Given the description of an element on the screen output the (x, y) to click on. 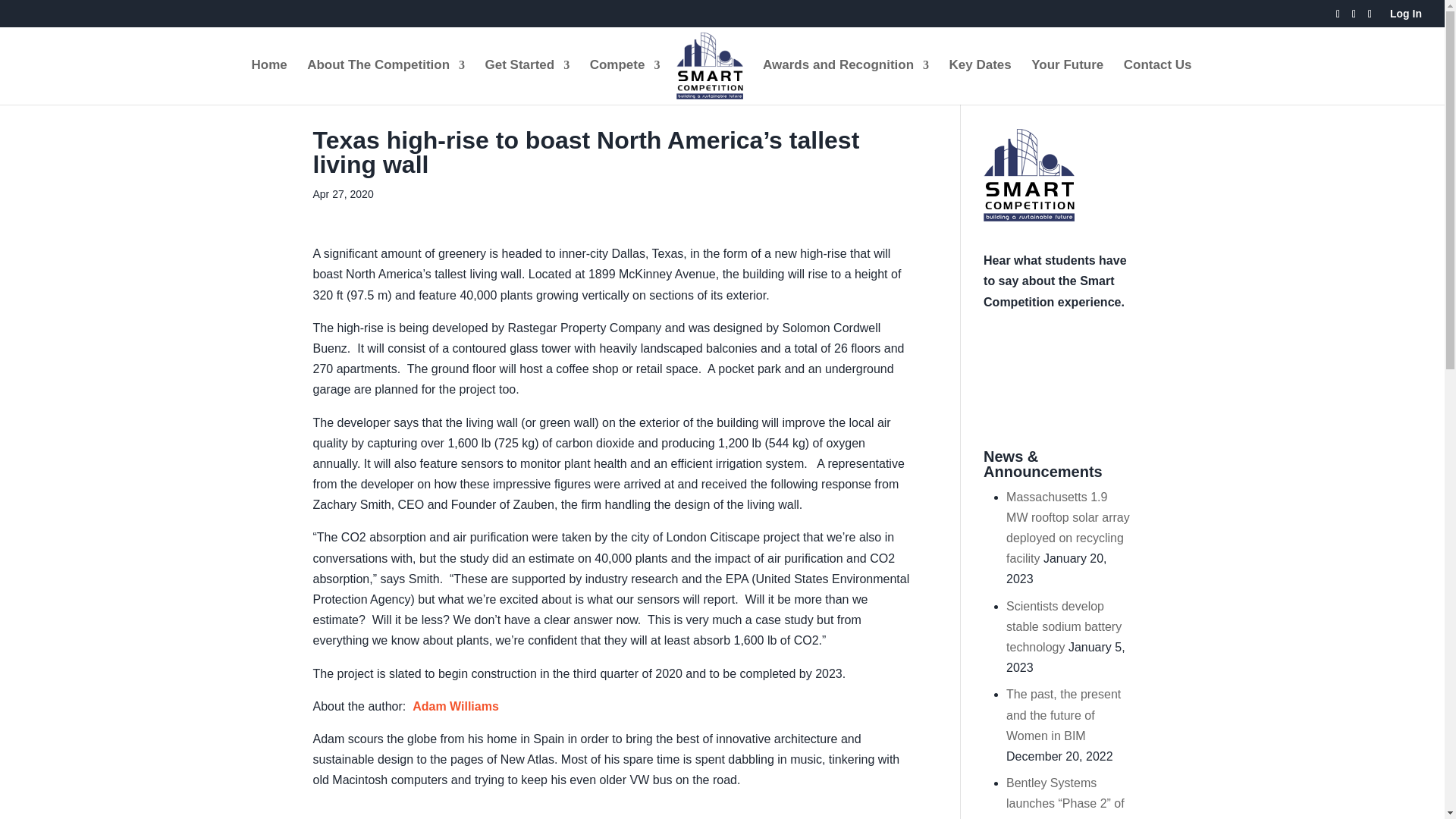
About The Competition (385, 81)
Log In (1406, 16)
Compete (625, 81)
Get Started (527, 81)
